Given the description of an element on the screen output the (x, y) to click on. 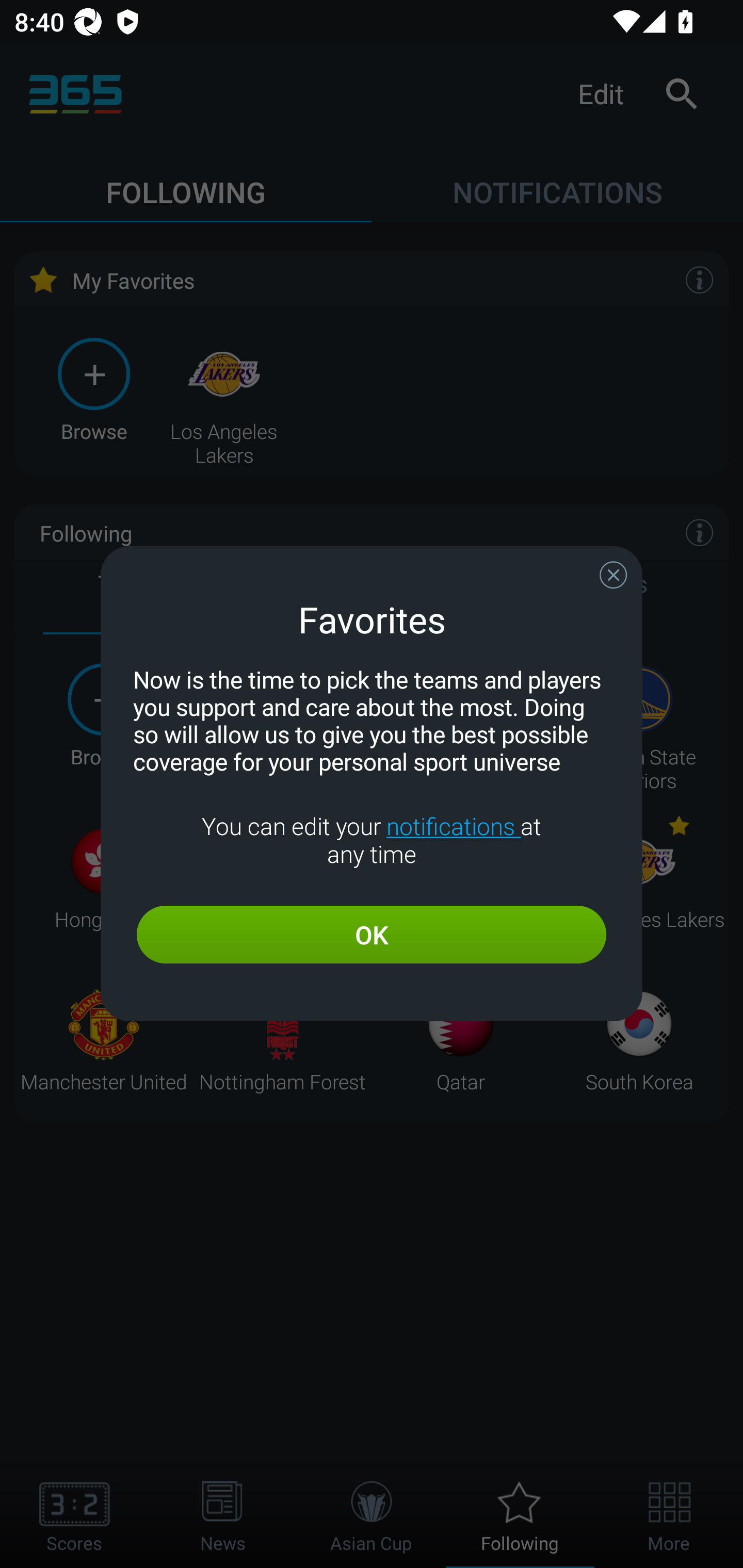
You can edit your notifications at any time (371, 839)
OK (371, 934)
